Given the description of an element on the screen output the (x, y) to click on. 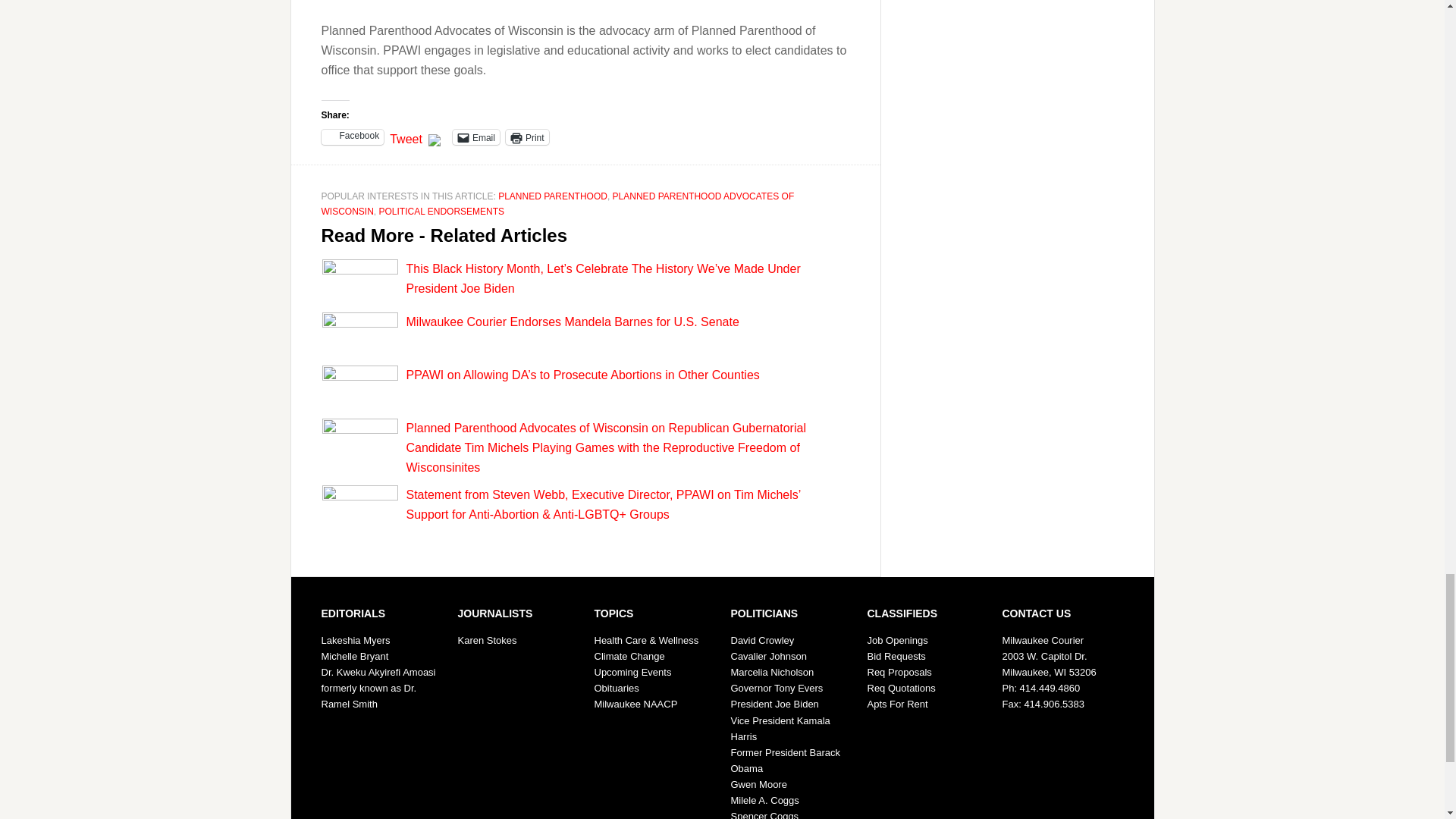
PLANNED PARENTHOOD ADVOCATES OF WISCONSIN (557, 203)
Tweet (406, 136)
Milwaukee Courier Endorses Mandela Barnes for U.S. Senate (572, 321)
Milwaukee Courier Endorses Mandela Barnes for U.S. Senate (572, 321)
Click to email a link to a friend (475, 136)
Click to share on Facebook (352, 136)
Facebook (352, 136)
PLANNED PARENTHOOD (552, 195)
POLITICAL ENDORSEMENTS (441, 211)
Print (526, 136)
Click to print (526, 136)
Email (475, 136)
